Given the description of an element on the screen output the (x, y) to click on. 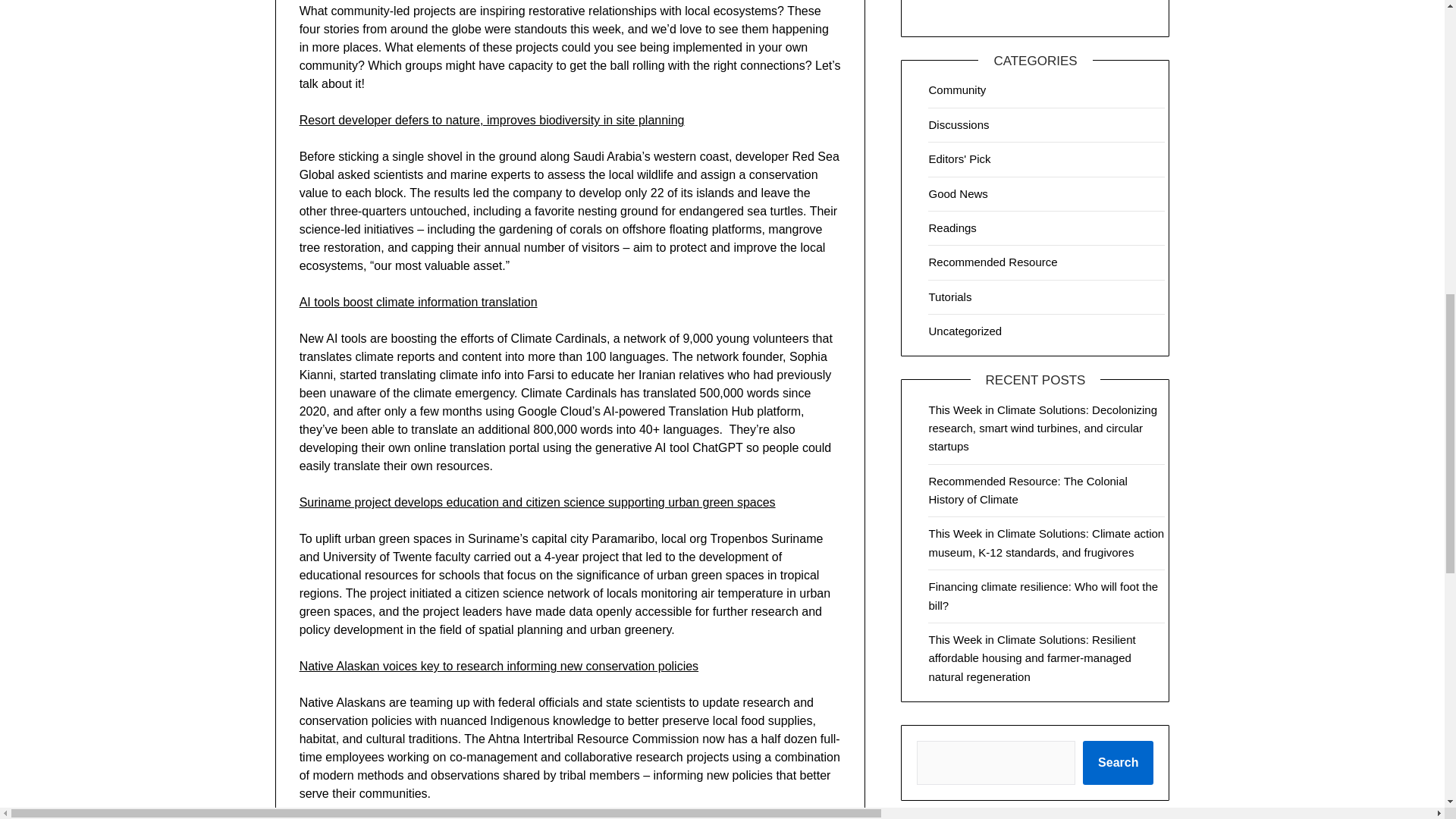
Community (956, 89)
Editors' Pick (959, 158)
Discussions (958, 124)
Uncategorized (964, 330)
Good News (957, 193)
Readings (951, 227)
Recommended Resource: The Colonial History of Climate (1027, 490)
Tutorials (949, 296)
Financing climate resilience: Who will foot the bill? (1042, 594)
AI tools boost climate information translation (418, 301)
